Given the description of an element on the screen output the (x, y) to click on. 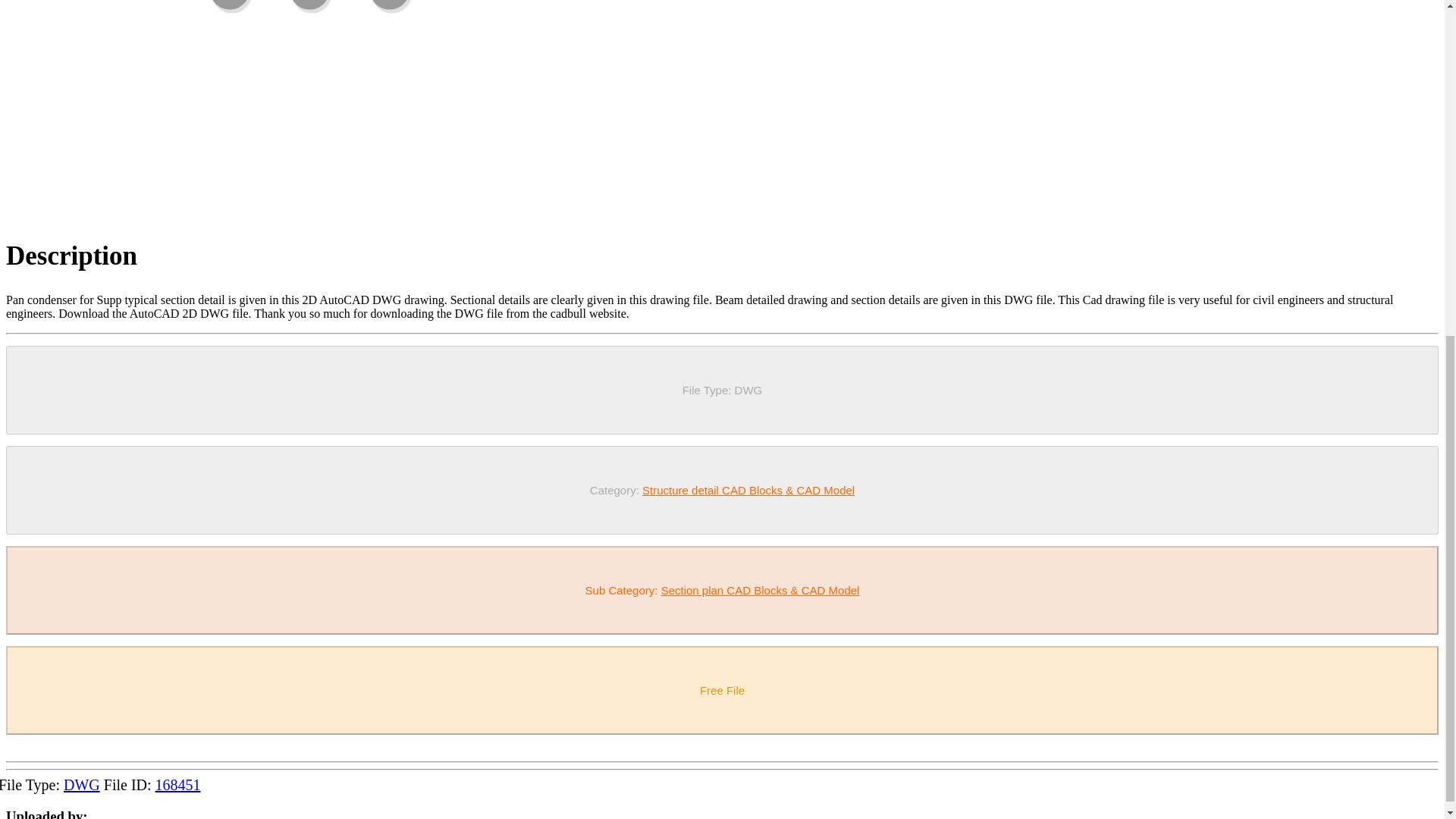
168451 (177, 784)
DWG (82, 784)
